Given the description of an element on the screen output the (x, y) to click on. 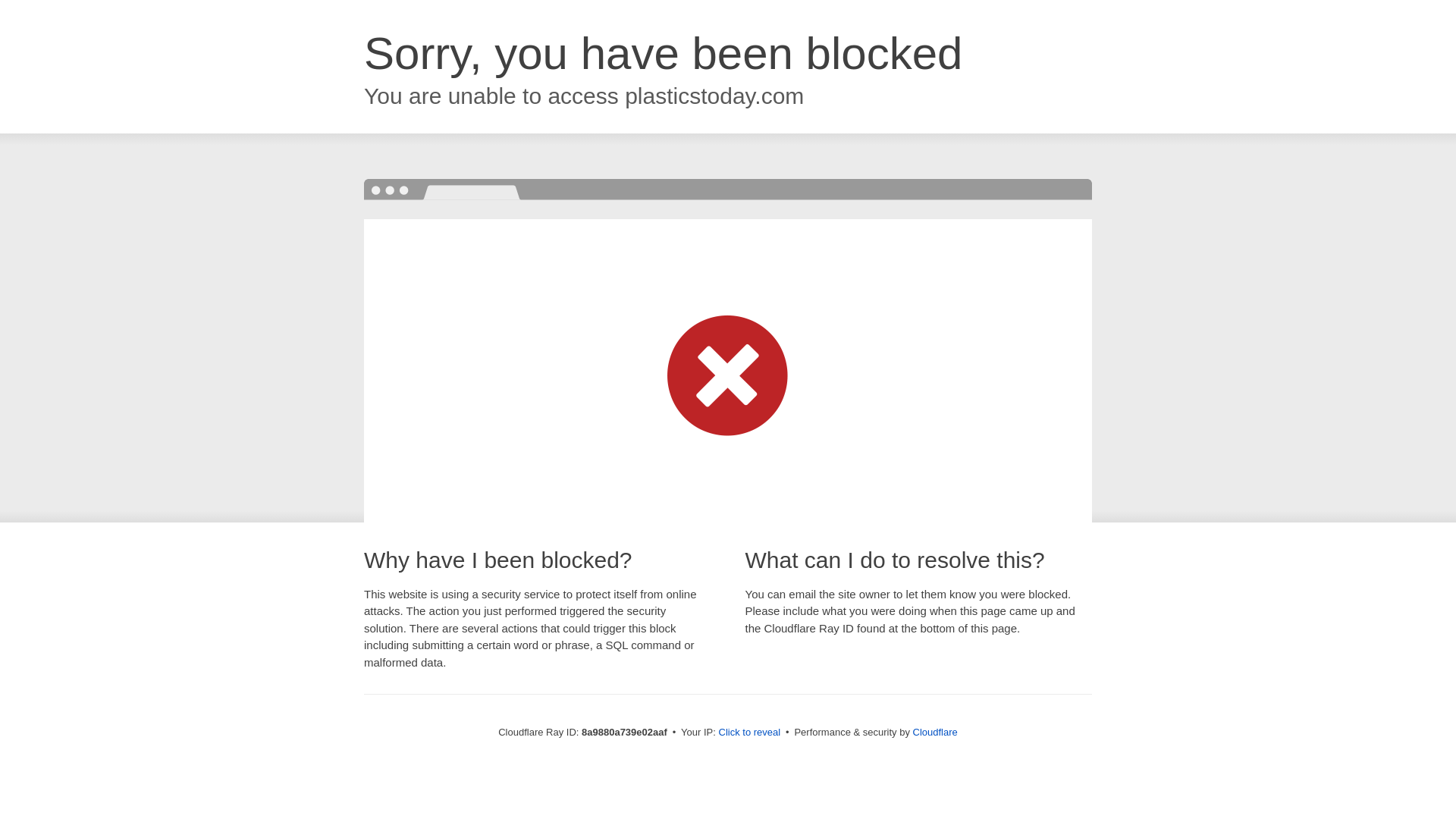
Click to reveal (749, 732)
Cloudflare (935, 731)
